Given the description of an element on the screen output the (x, y) to click on. 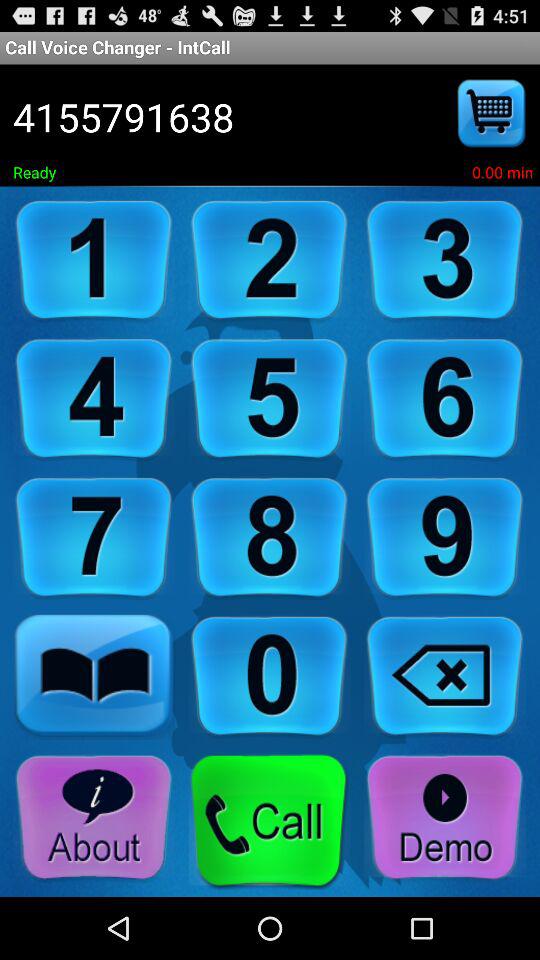
number 6 (445, 399)
